Given the description of an element on the screen output the (x, y) to click on. 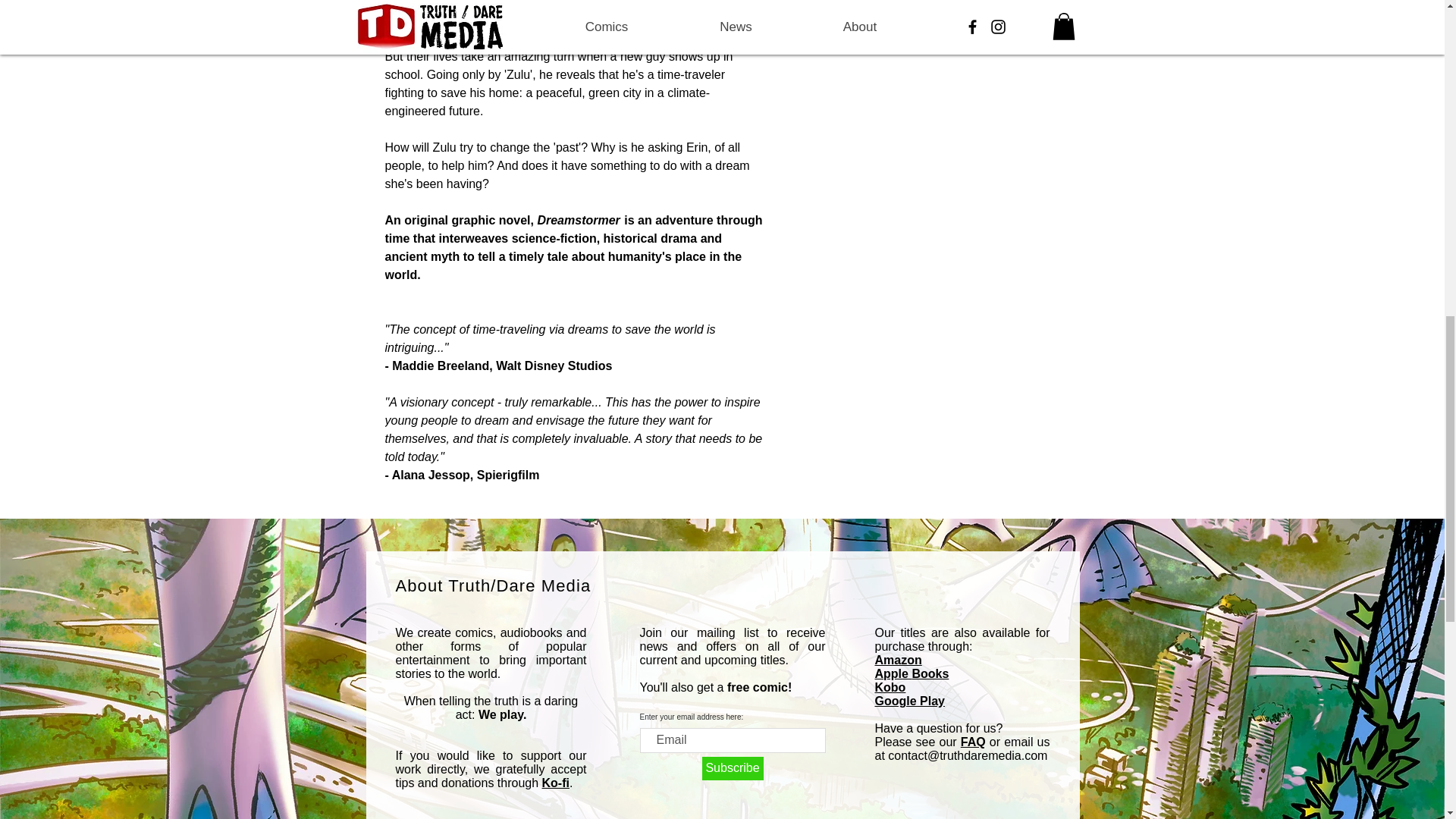
Google Play (909, 700)
Subscribe (731, 768)
Amazon (898, 659)
Kobo (890, 686)
FAQ (972, 741)
Ko-fi (555, 782)
Apple Books (912, 673)
